Given the description of an element on the screen output the (x, y) to click on. 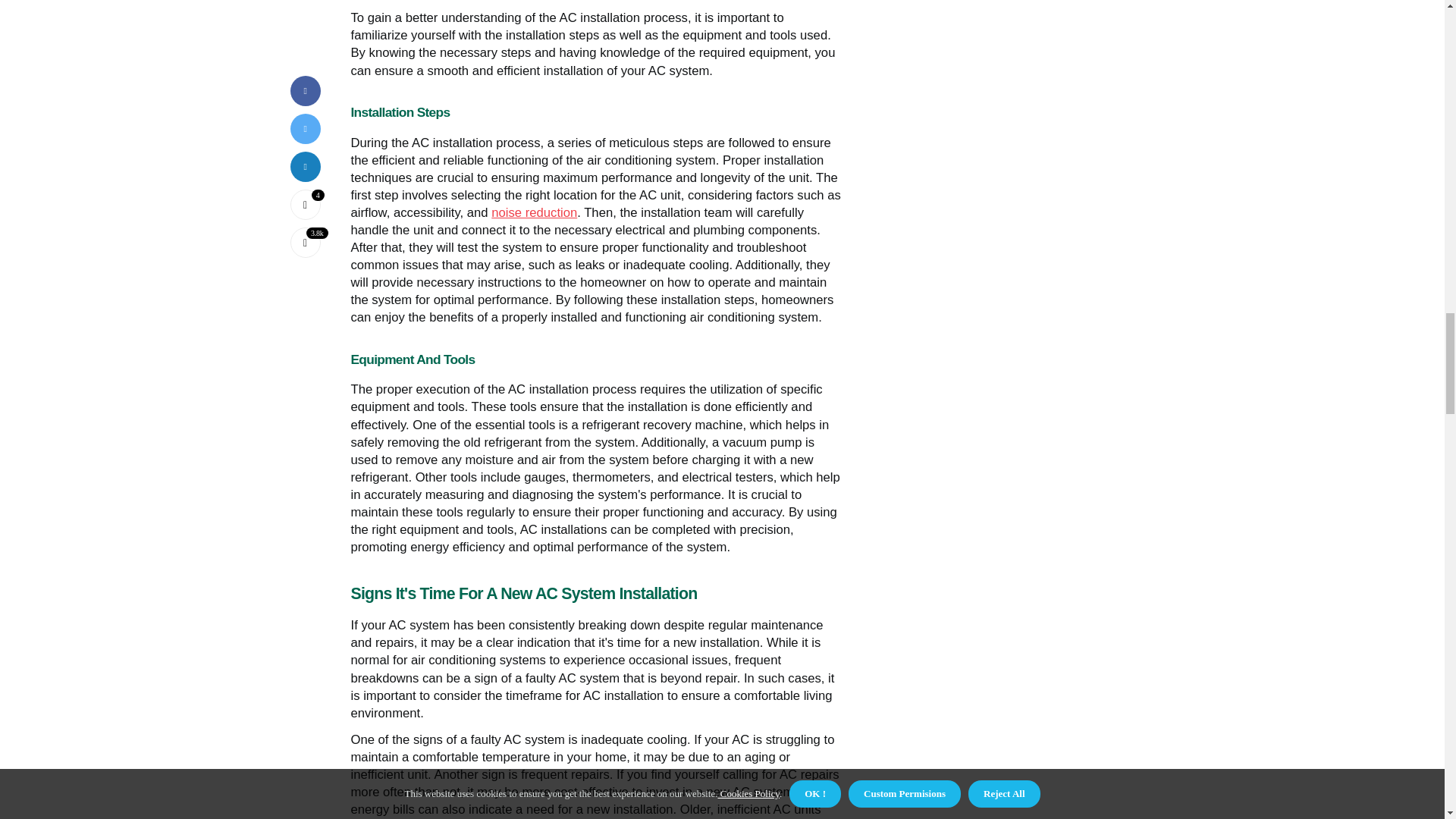
noise reduction (534, 212)
